Given the description of an element on the screen output the (x, y) to click on. 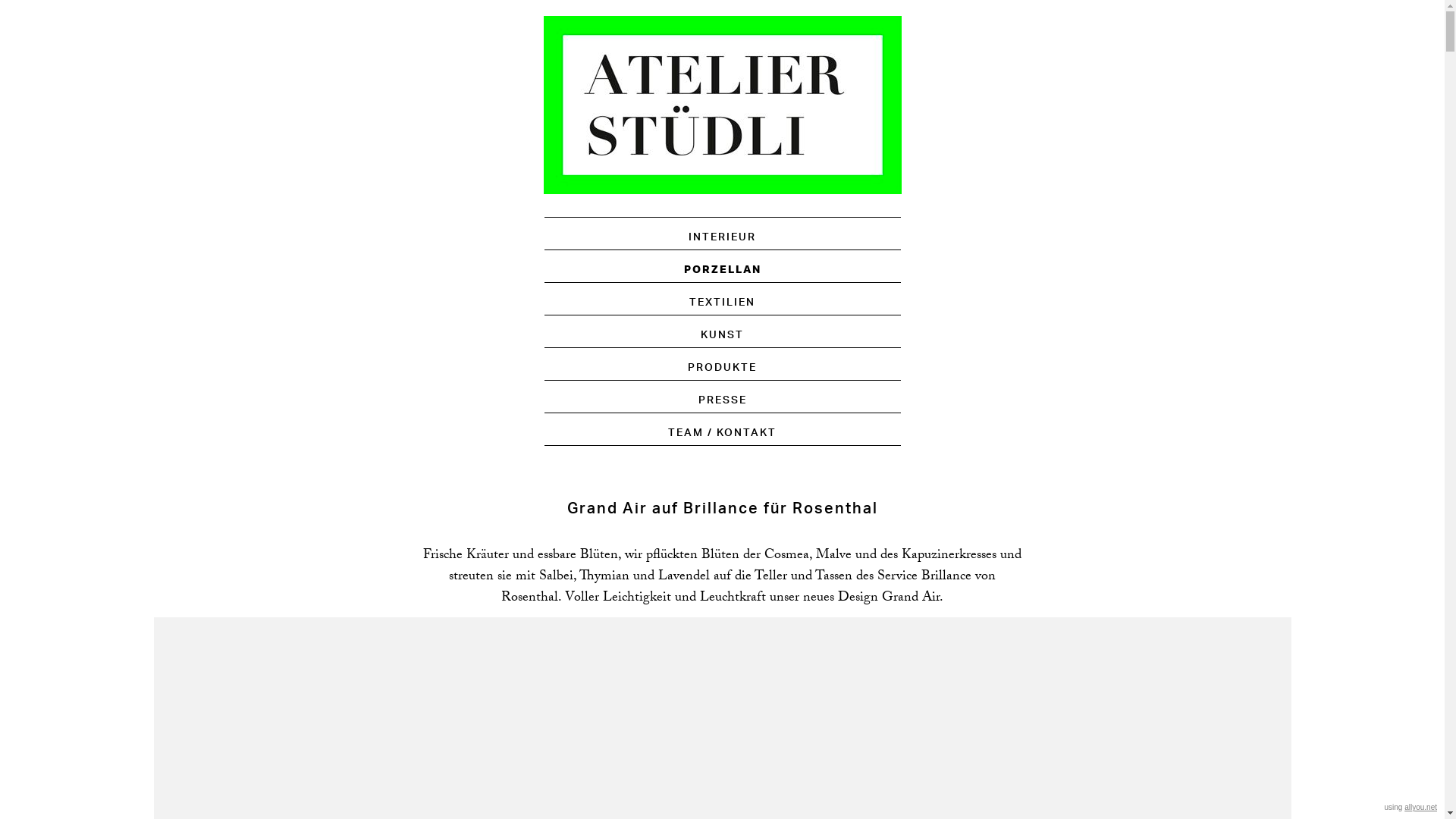
PRODUKTE Element type: text (721, 367)
TEAM / KONTAKT Element type: text (722, 432)
TEXTILIEN Element type: text (722, 302)
PRESSE Element type: text (721, 399)
KUNST Element type: text (721, 334)
INTERIEUR Element type: text (722, 236)
allyou.net Element type: text (1420, 807)
PORZELLAN Element type: text (722, 269)
